Given the description of an element on the screen output the (x, y) to click on. 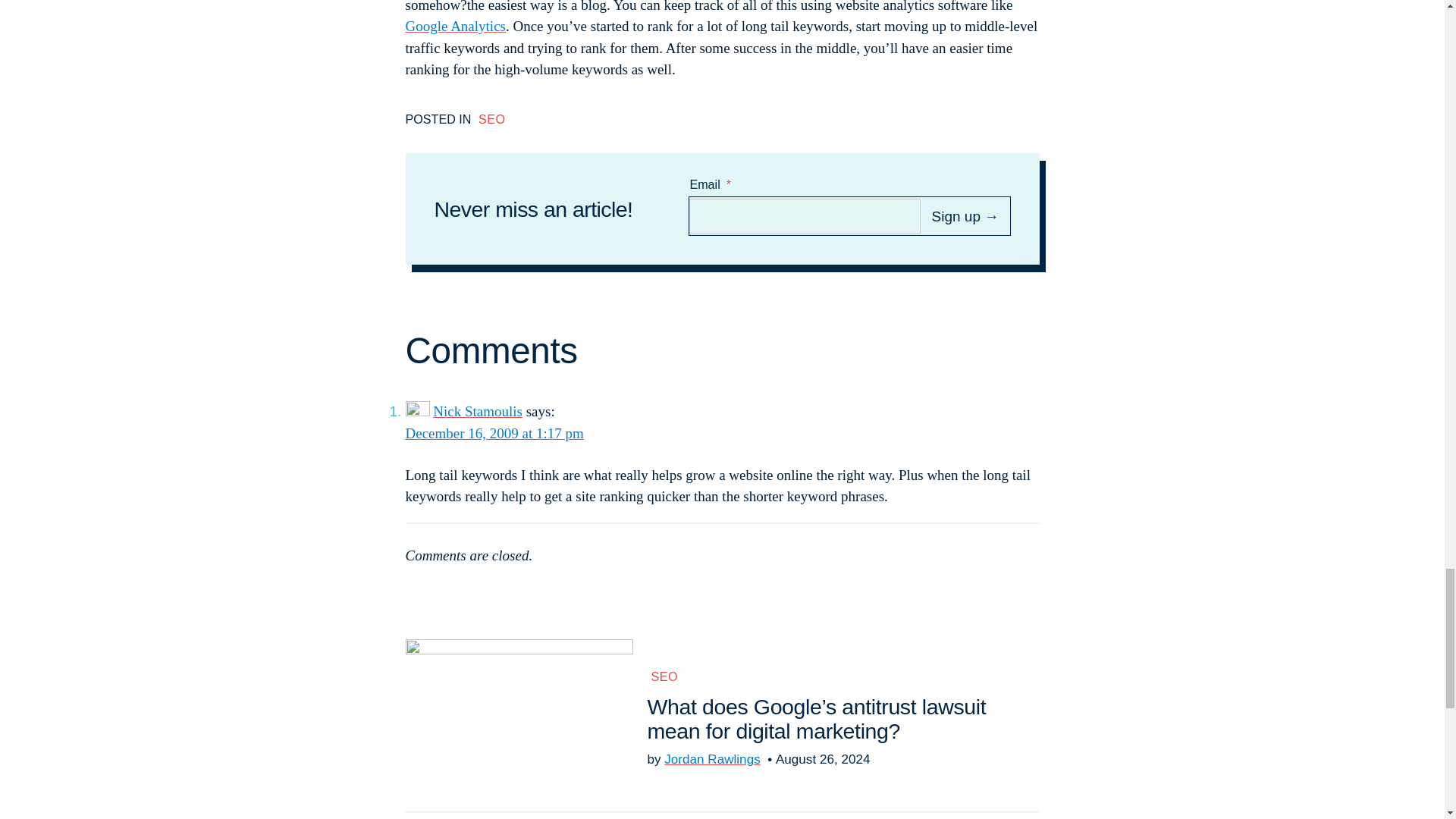
SEO (664, 674)
Nick Stamoulis (477, 411)
Google Analytics (454, 26)
SEO (491, 117)
December 16, 2009 at 1:17 pm (493, 433)
